Given the description of an element on the screen output the (x, y) to click on. 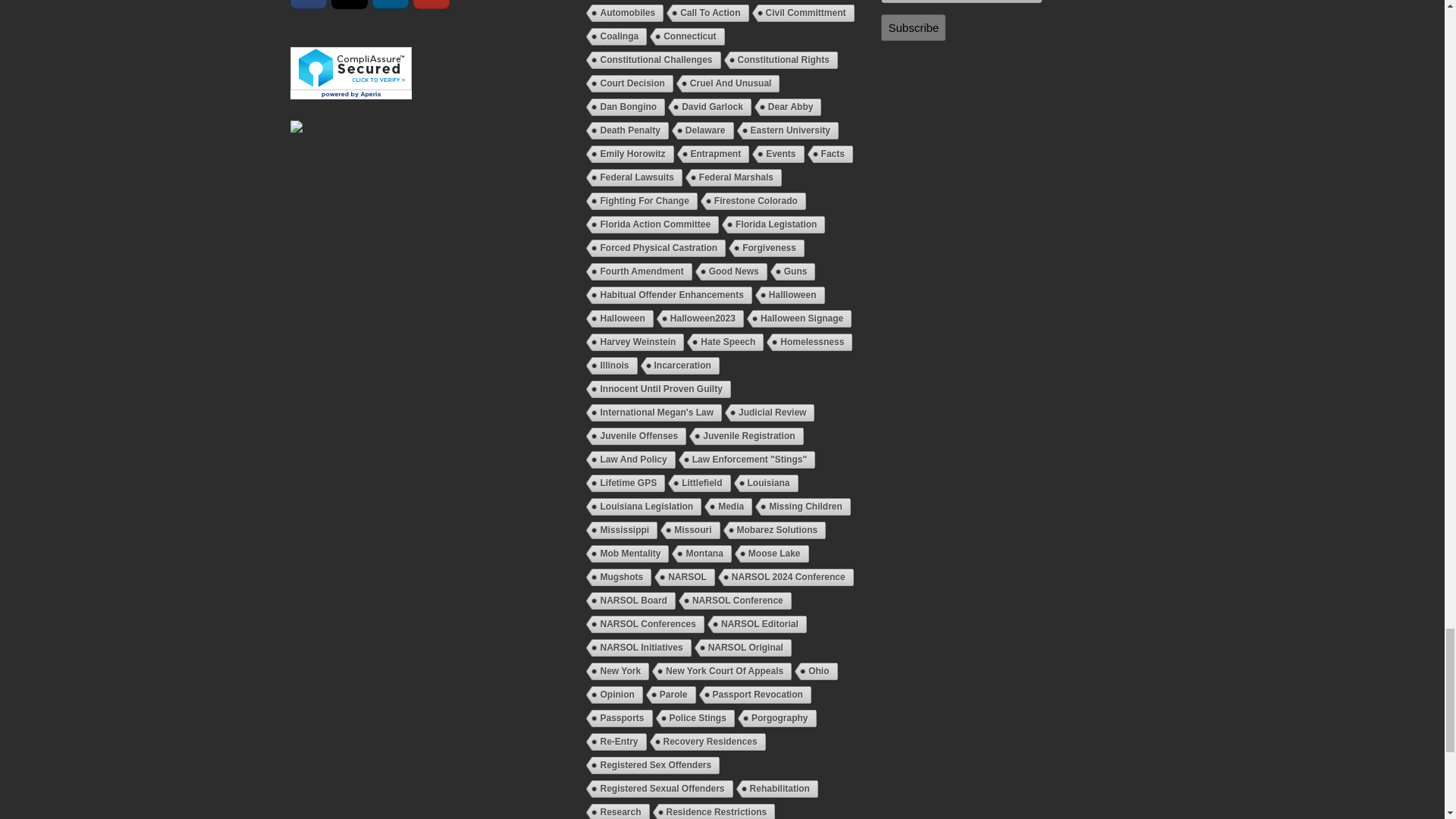
Subscribe (912, 27)
NARSOL on Youtube (431, 4)
NARSOL on X Twitter (349, 4)
NARSOL on Linkedin (390, 4)
NARSOL on Facebook (307, 4)
